Given the description of an element on the screen output the (x, y) to click on. 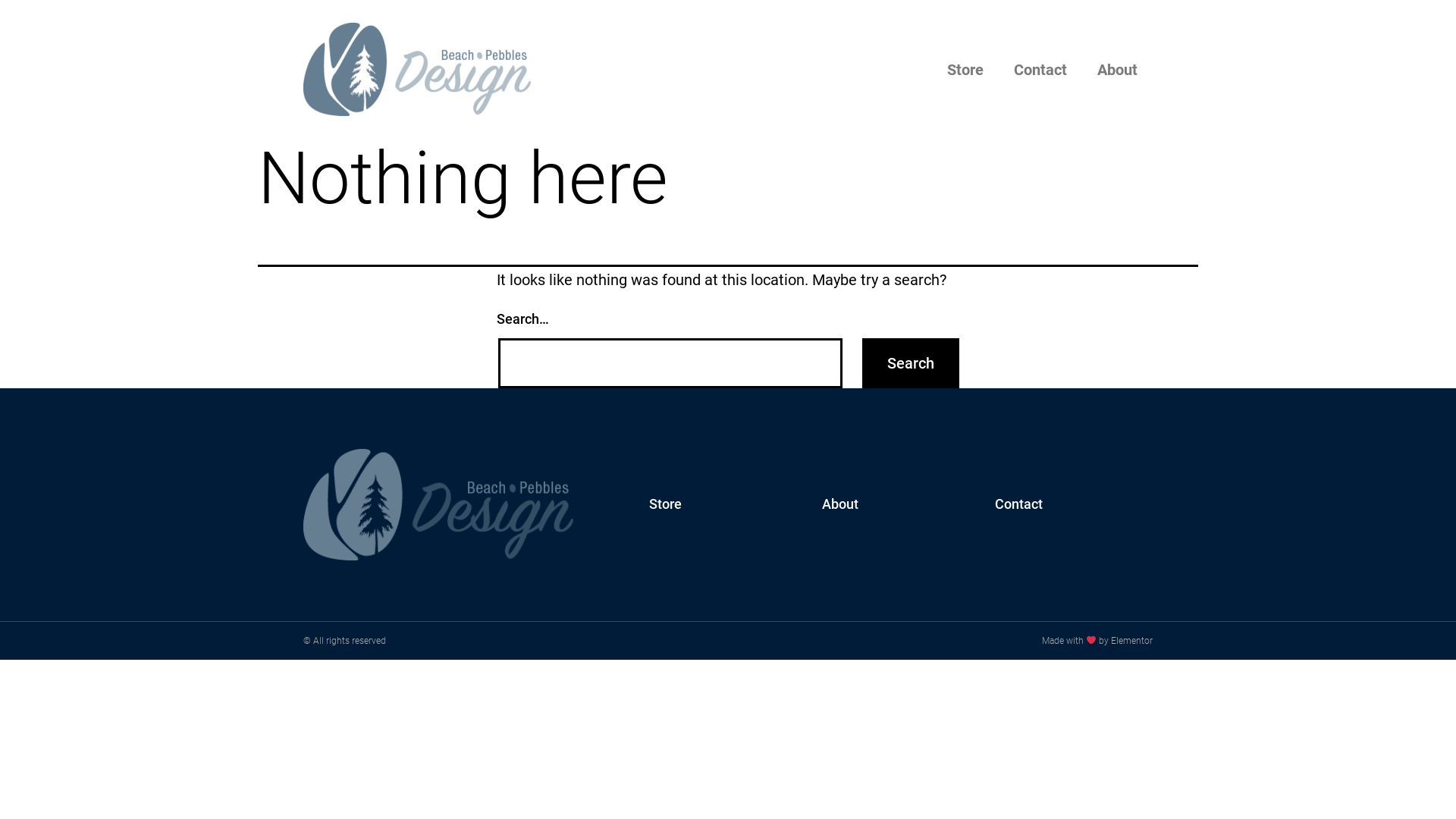
About Element type: text (840, 503)
Contact Element type: text (1040, 68)
Contact Element type: text (1018, 503)
About Element type: text (1117, 68)
Store Element type: text (665, 503)
Search Element type: text (910, 363)
Store Element type: text (964, 68)
